Given the description of an element on the screen output the (x, y) to click on. 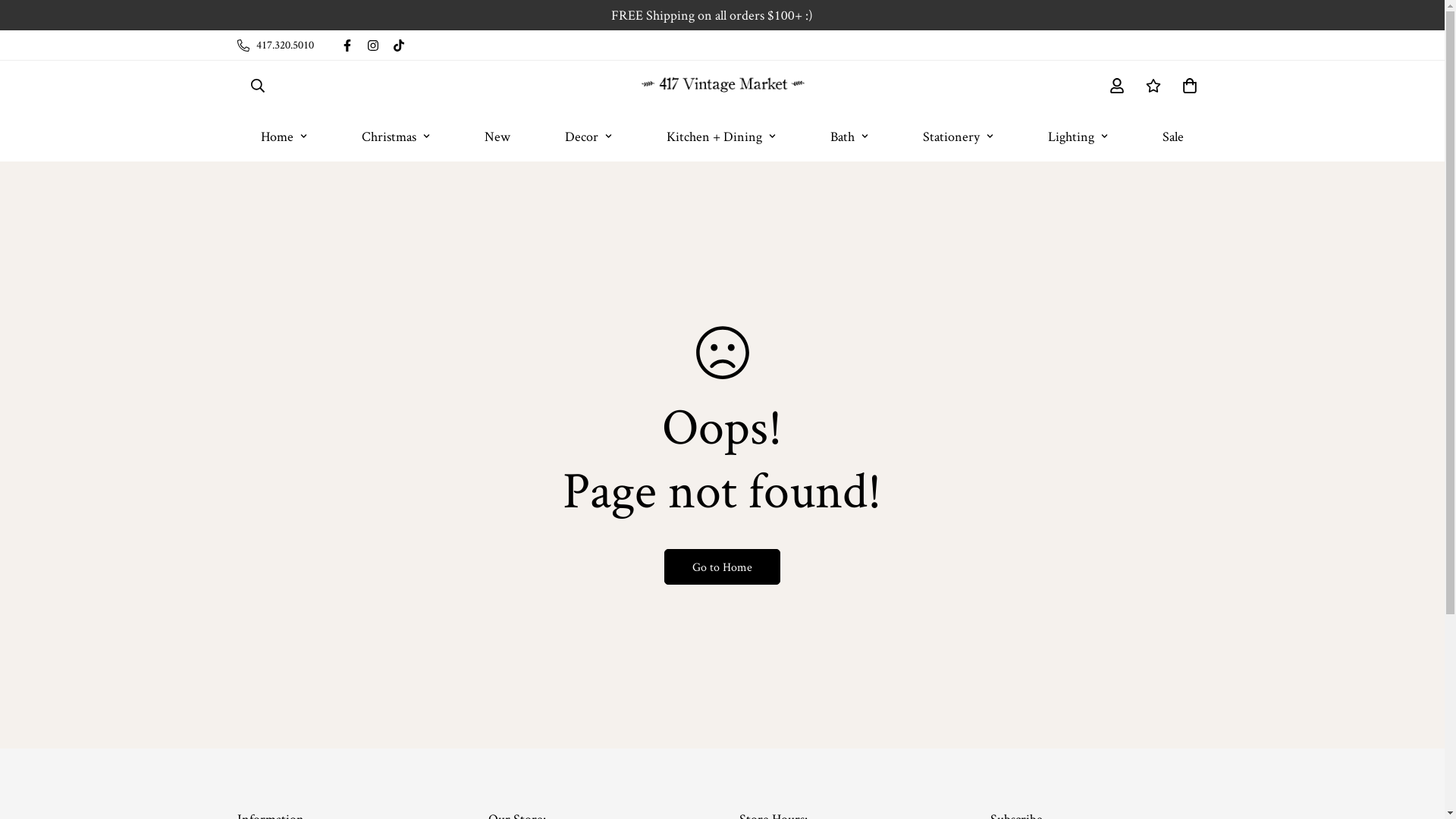
Decor Element type: text (588, 135)
Sale Element type: text (1173, 135)
New Element type: text (497, 135)
Go to Home Element type: text (722, 567)
Lighting Element type: text (1077, 135)
417.320.5010 Element type: text (274, 44)
Christmas Element type: text (395, 135)
Stationery Element type: text (957, 135)
Bath Element type: text (849, 135)
417 Vintage Market Element type: hover (721, 84)
Home Element type: text (283, 135)
Kitchen + Dining Element type: text (721, 135)
